Given the description of an element on the screen output the (x, y) to click on. 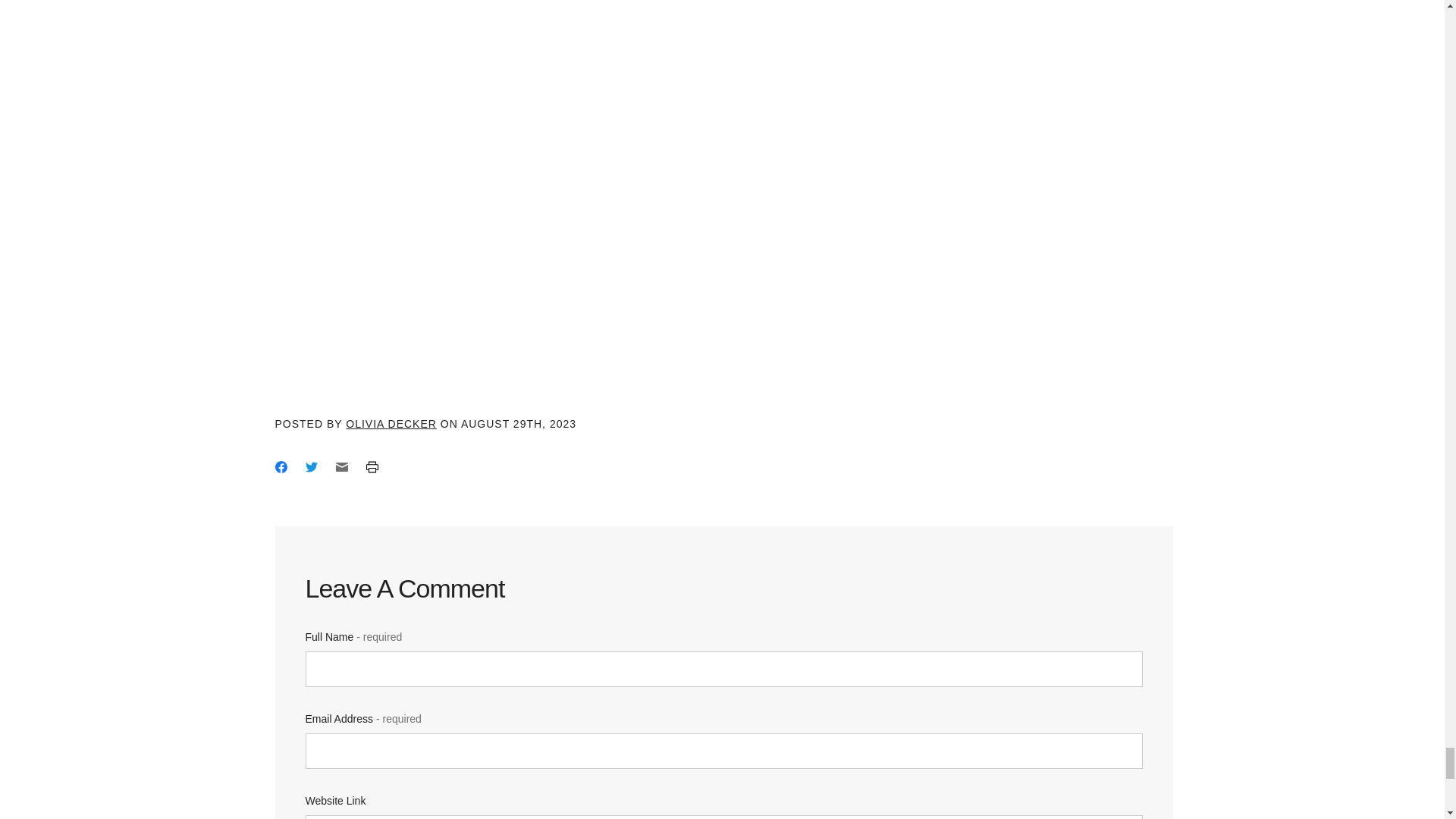
Tweet this post on Twitter (310, 466)
Share this post on Facebook (280, 466)
Send a link to post via Email (340, 466)
Opens new window with print ready page (371, 466)
OLIVIA DECKER (391, 423)
